Given the description of an element on the screen output the (x, y) to click on. 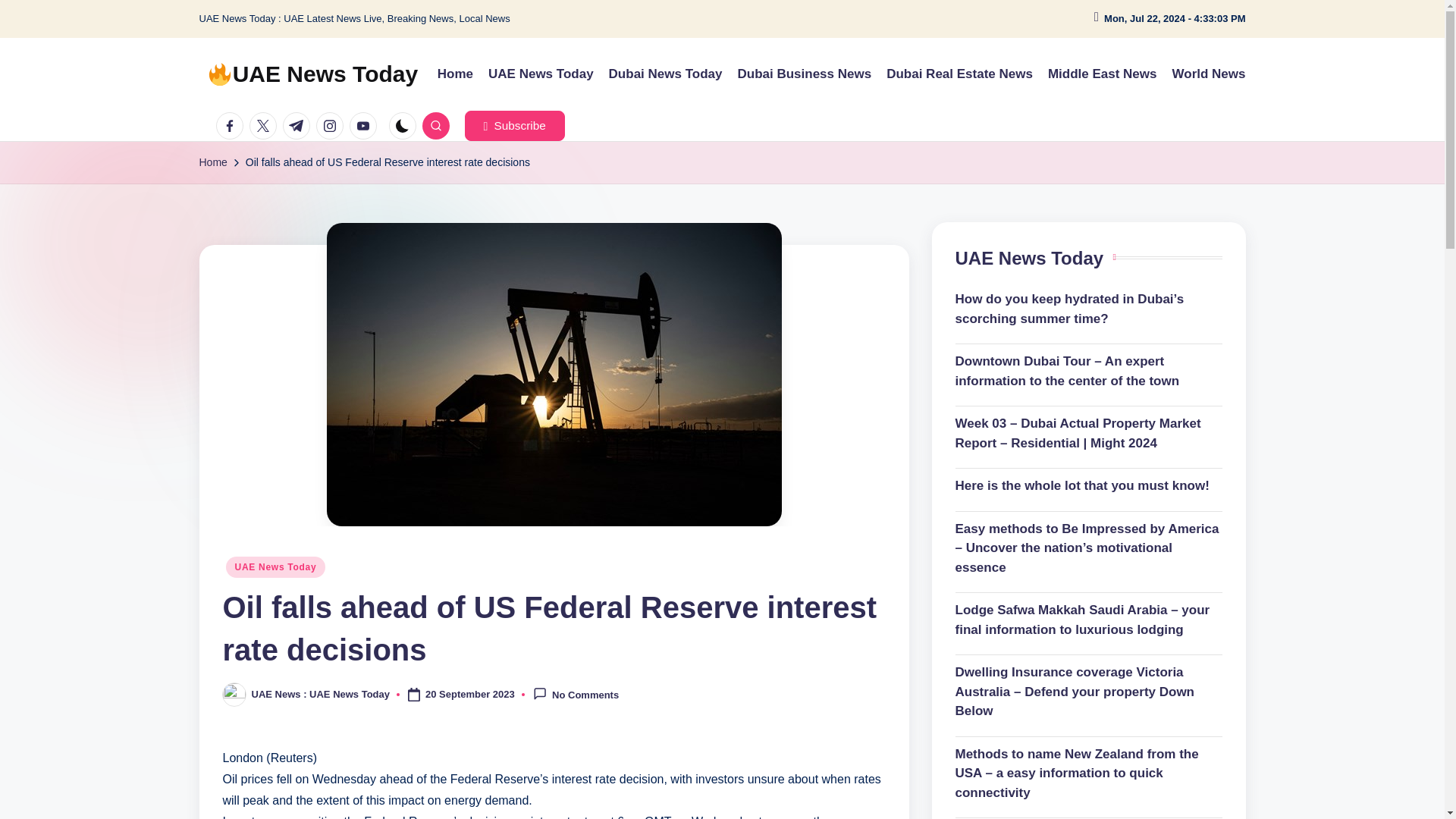
facebook.com (231, 125)
Here is the whole lot that you must know! (1089, 485)
View all posts by UAE News : UAE News Today (320, 694)
UAE News Today (275, 567)
instagram.com (332, 125)
Home (455, 74)
youtube.com (365, 125)
Dubai News Today (665, 74)
World News (1209, 74)
UAE News Today (540, 74)
twitter.com (265, 125)
Subscribe (514, 125)
t.me (298, 125)
UAE News : UAE News Today (320, 694)
Home (212, 162)
